Given the description of an element on the screen output the (x, y) to click on. 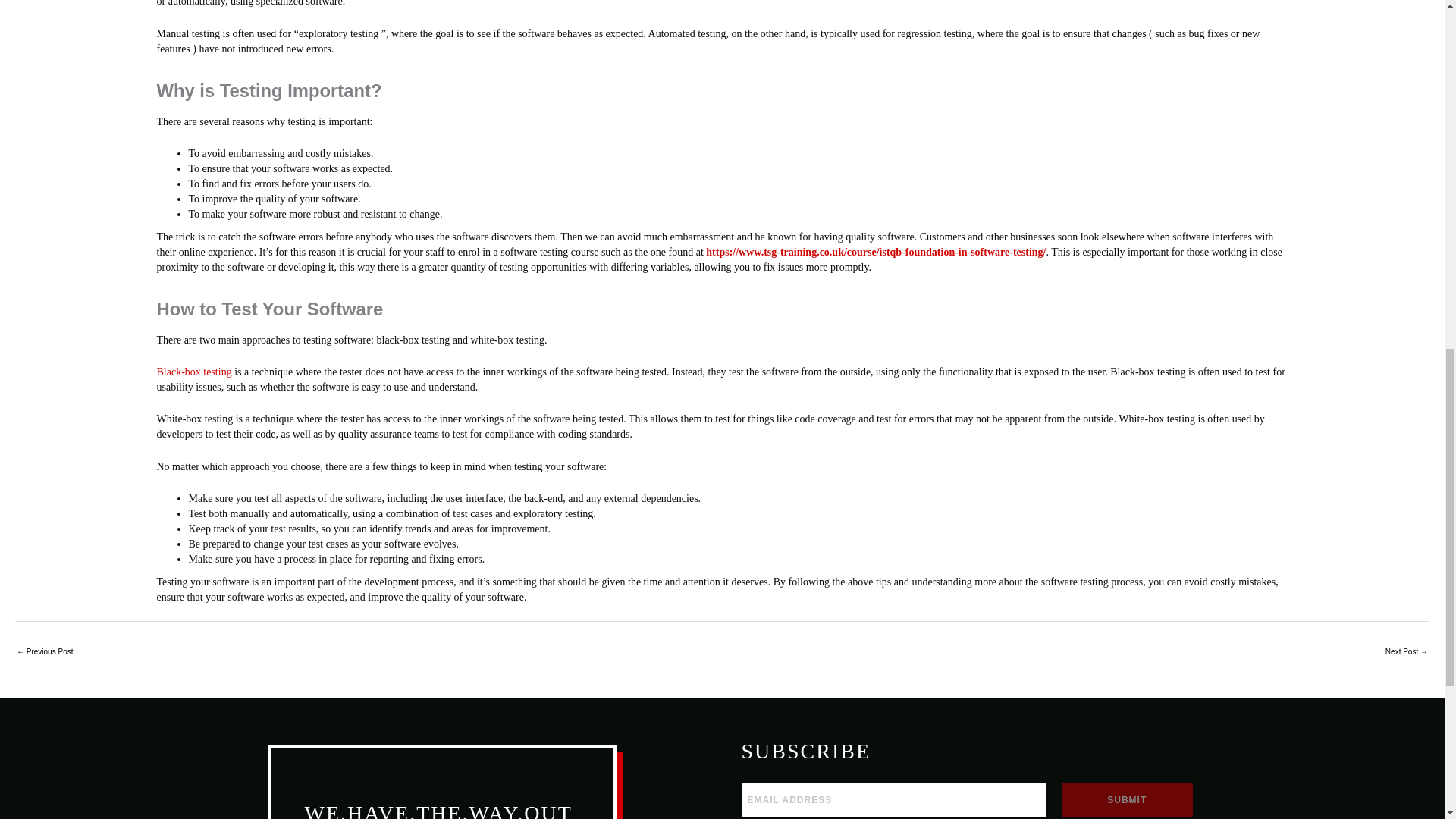
Top Leading Clinical Outcomes (44, 652)
SUBMIT (1126, 799)
Black-box testing (193, 371)
